Given the description of an element on the screen output the (x, y) to click on. 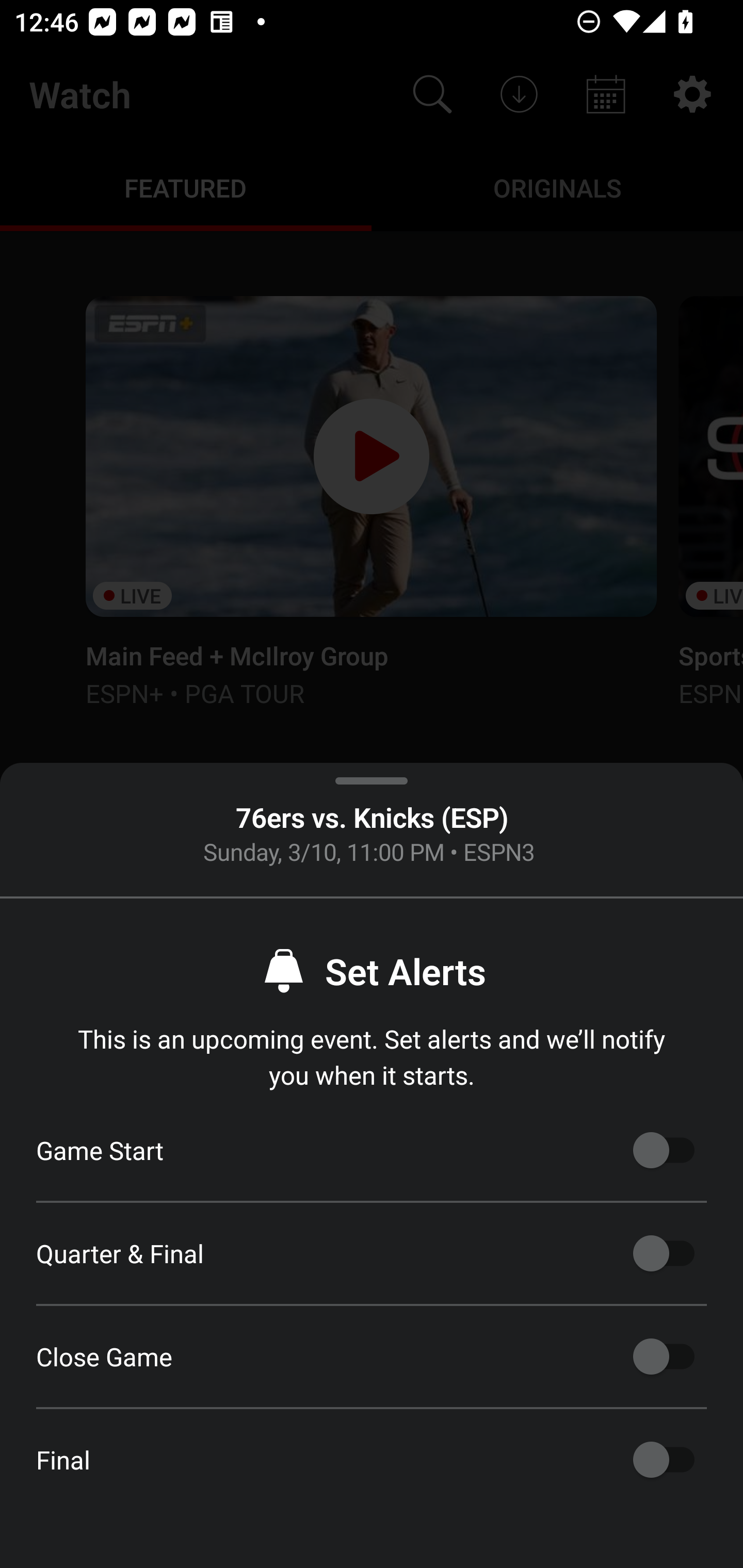
Game Start (663, 1150)
Quarter & Final (663, 1253)
Close Game (663, 1356)
Final (663, 1459)
